Given the description of an element on the screen output the (x, y) to click on. 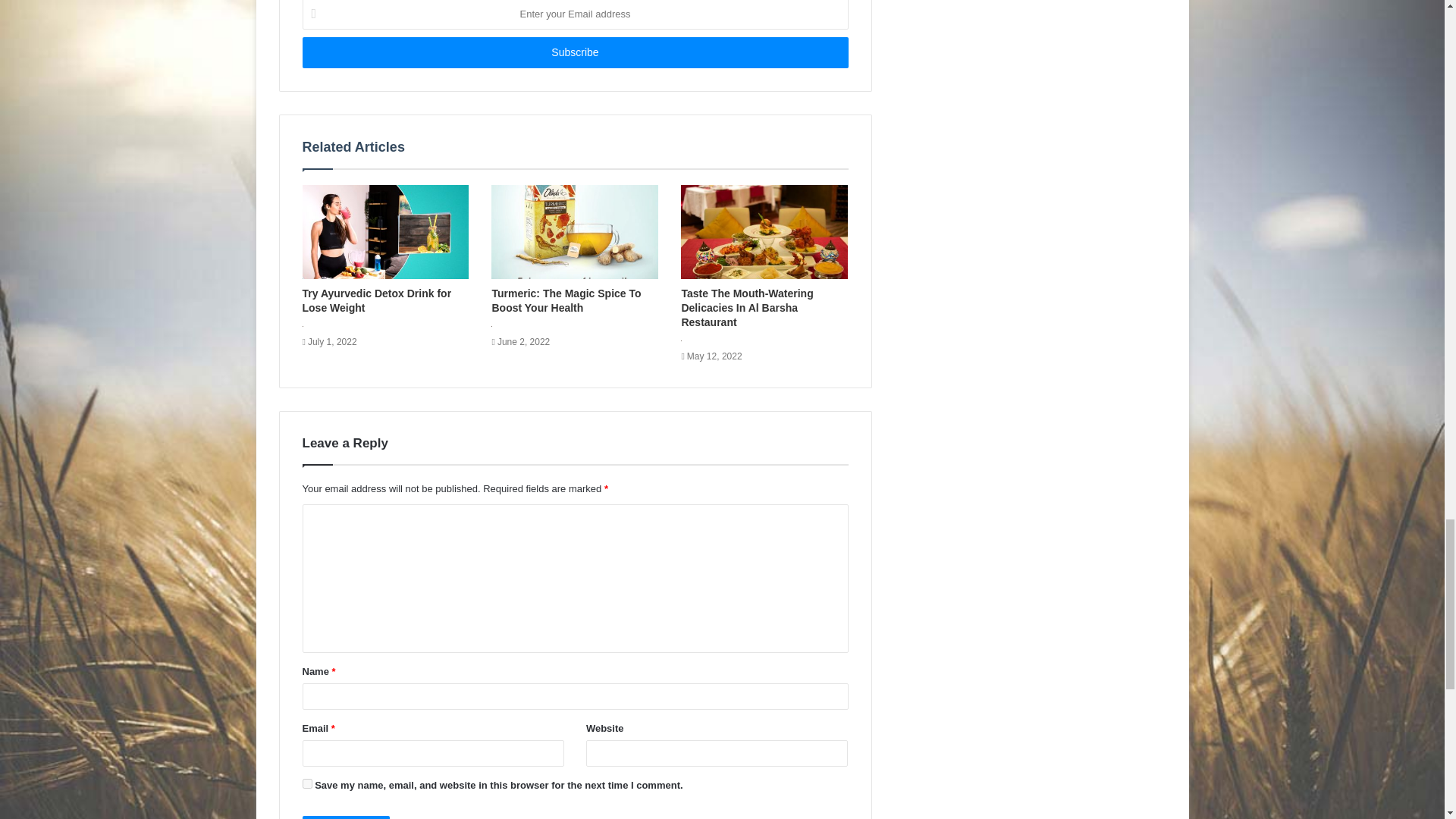
yes (306, 783)
Subscribe (574, 51)
Post Comment (345, 817)
